Given the description of an element on the screen output the (x, y) to click on. 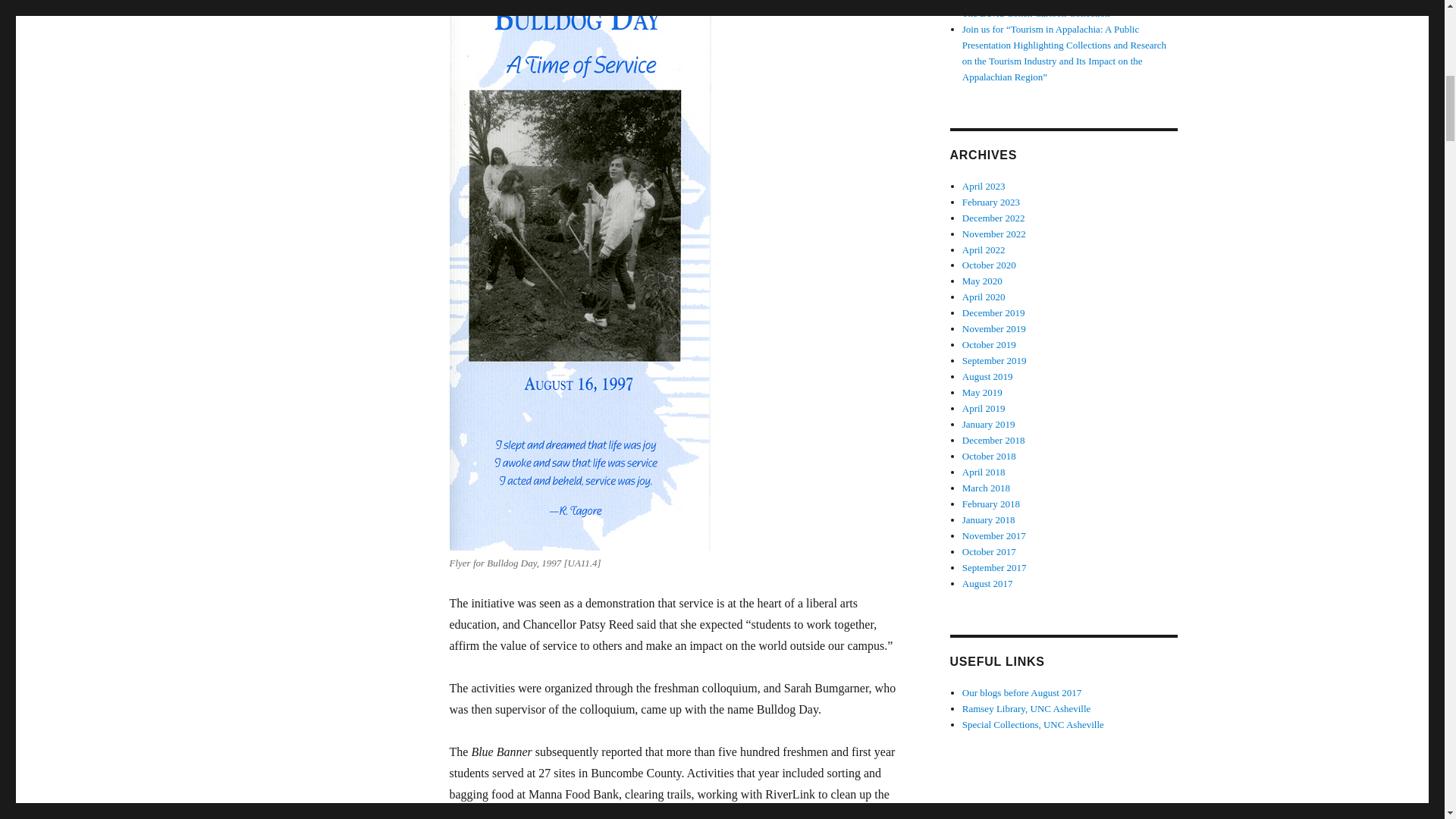
Our website (1032, 724)
Our old blogs..on a different blogging site (1021, 692)
The website for the library at UNC Asheville (1026, 708)
